Given the description of an element on the screen output the (x, y) to click on. 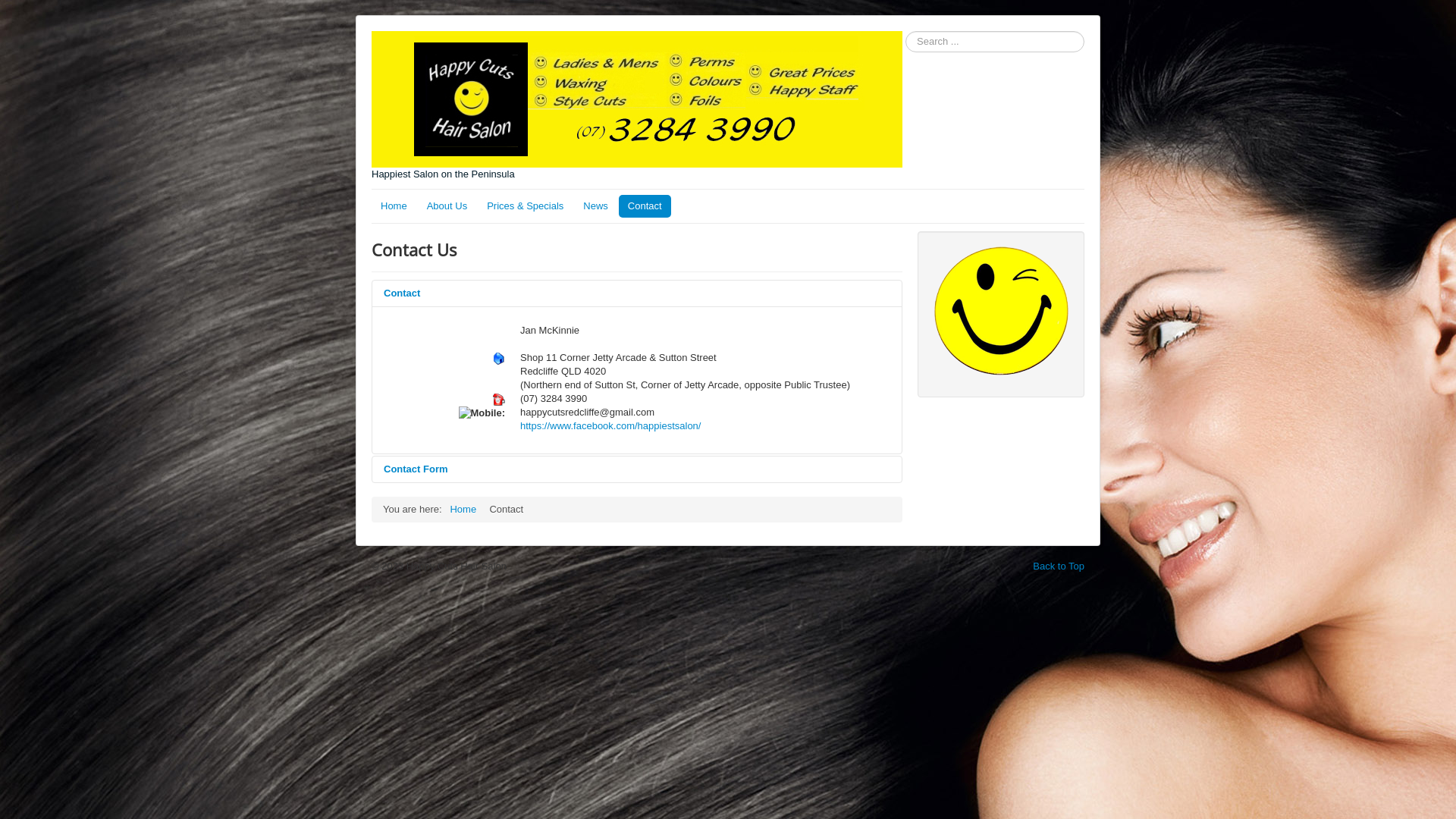
News Element type: text (595, 205)
Contact Form Element type: text (636, 469)
Contact Element type: text (636, 293)
Home Element type: text (393, 205)
About Us Element type: text (446, 205)
https://www.facebook.com/happiestsalon/ Element type: text (610, 425)
Back to Top Element type: text (1058, 565)
Contact Element type: text (644, 205)
Home Element type: text (462, 508)
Happiest Salon on the Peninsula Element type: text (636, 106)
Prices & Specials Element type: text (524, 205)
